Given the description of an element on the screen output the (x, y) to click on. 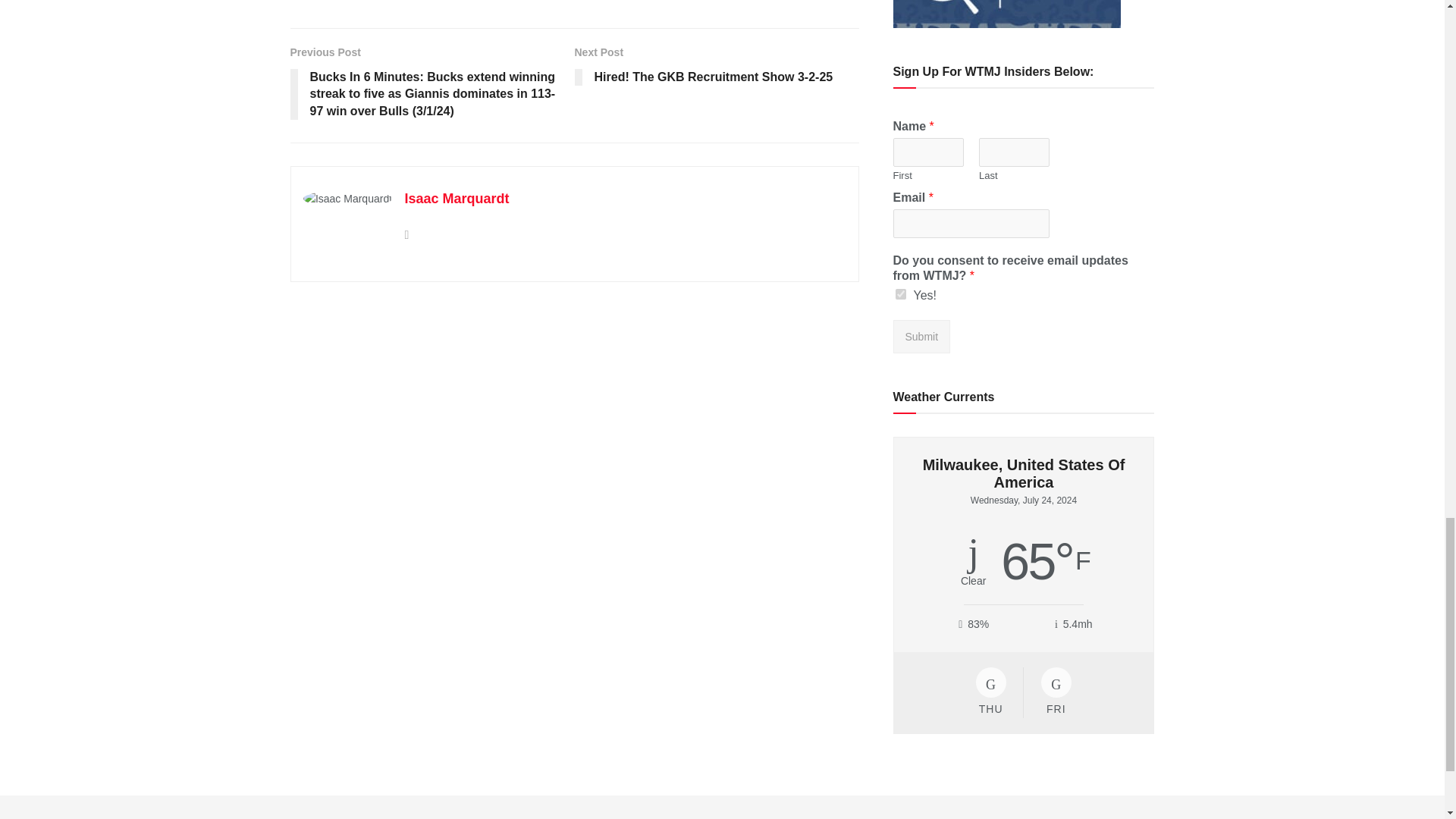
Yes! (900, 294)
